Given the description of an element on the screen output the (x, y) to click on. 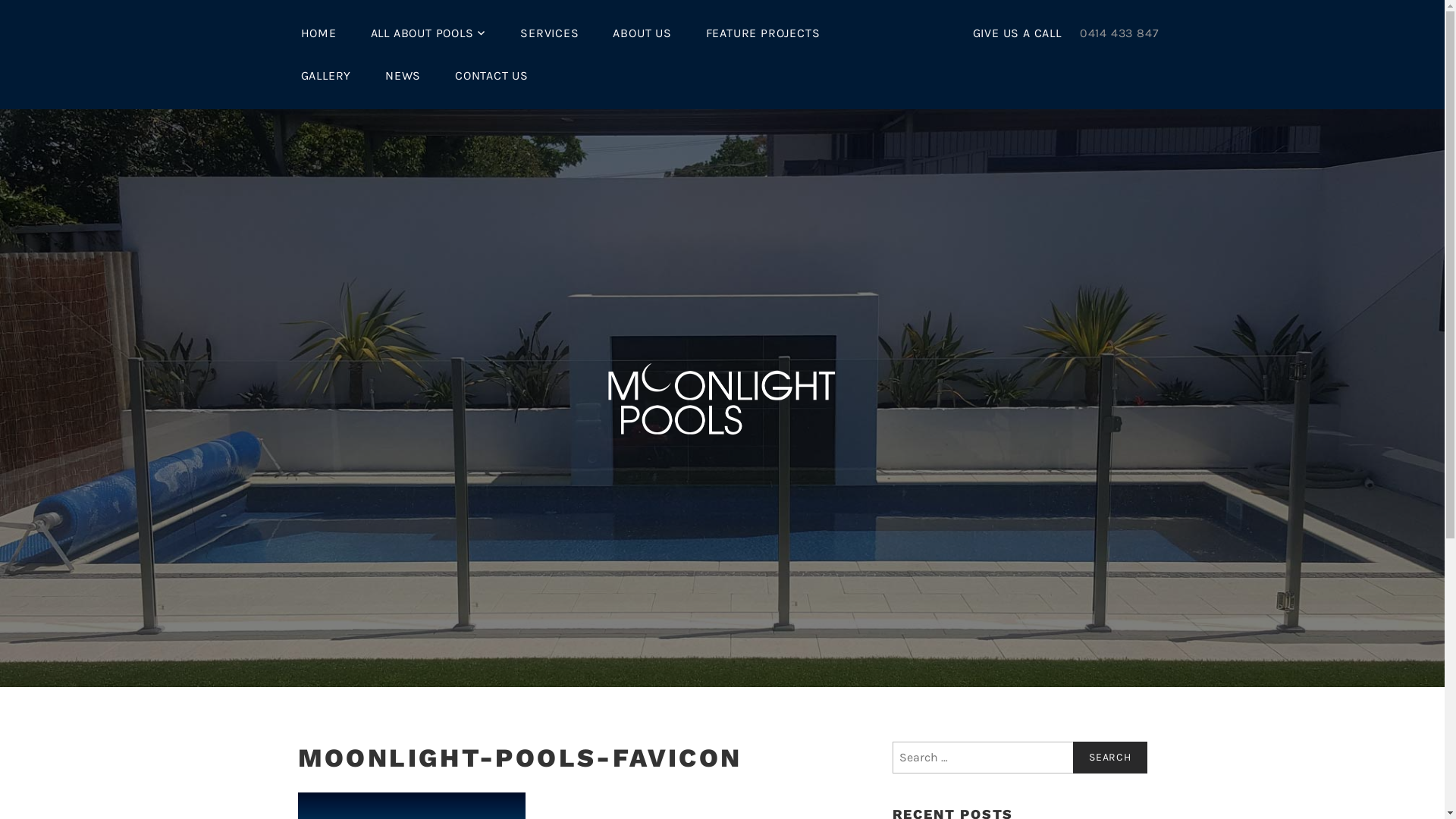
CONTACT US Element type: text (491, 75)
GALLERY Element type: text (325, 75)
ABOUT US Element type: text (641, 33)
FEATURE PROJECTS Element type: text (762, 33)
Search Element type: text (1109, 757)
HOME Element type: text (318, 33)
SERVICES Element type: text (549, 33)
NEWS Element type: text (403, 75)
ALL ABOUT POOLS Element type: text (428, 33)
